Given the description of an element on the screen output the (x, y) to click on. 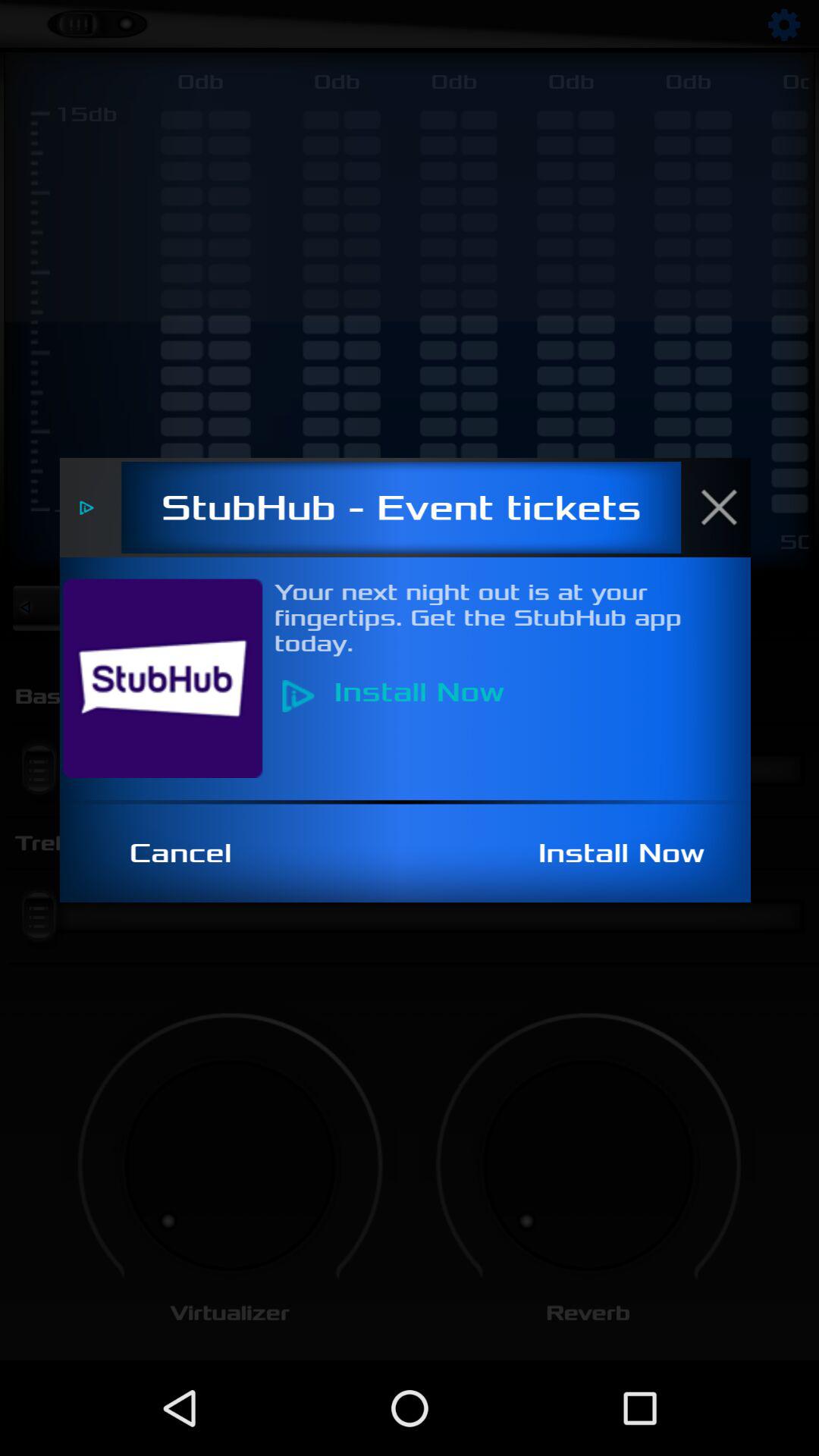
close the window (727, 507)
